Given the description of an element on the screen output the (x, y) to click on. 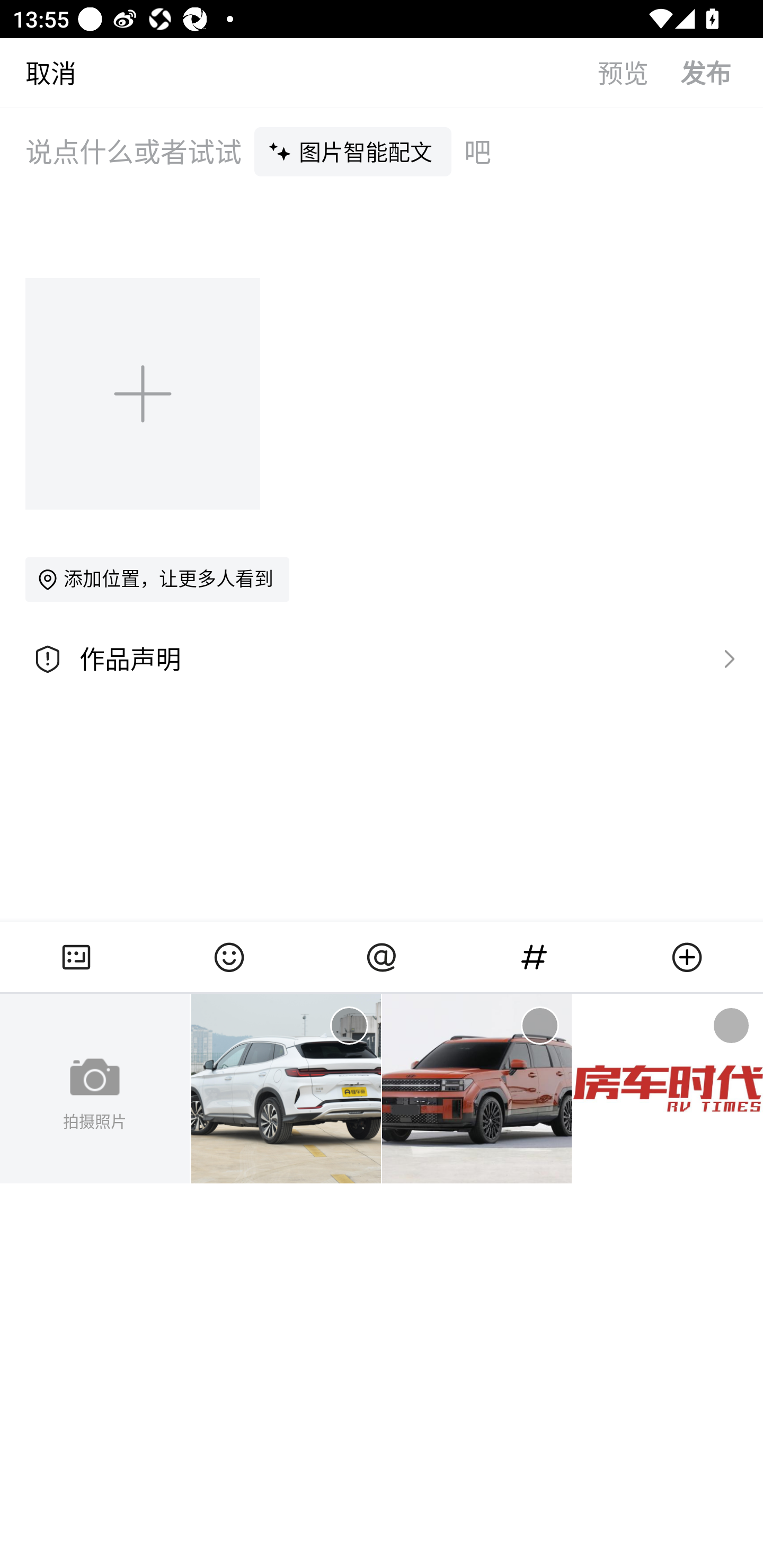
取消 (38, 71)
预览 (638, 71)
发布 (721, 71)
图片智能配文 (352, 151)
添加图片 (144, 393)
添加位置，让更多人看到 (157, 579)
作品声明 高级设置 作品声明 高级设置 (381, 658)
高级设置 (724, 658)
相册 (76, 956)
表情 (228, 956)
at (381, 956)
话题 (533, 956)
更多 (686, 956)
拍摄照片 (94, 1088)
图片1 (285, 1088)
图片2 (476, 1088)
图片3 (668, 1088)
